Given the description of an element on the screen output the (x, y) to click on. 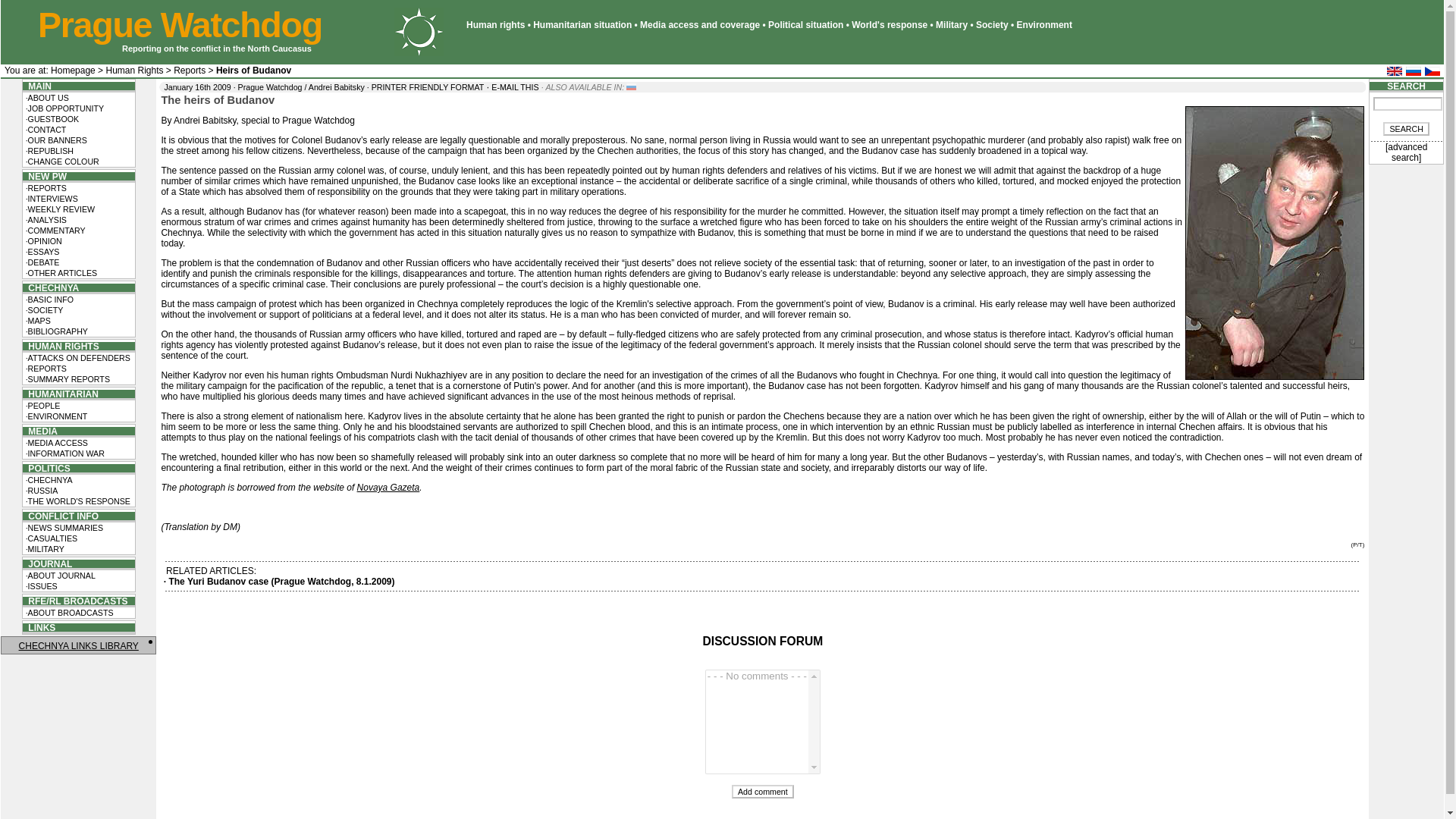
Human Rights (133, 70)
  MEDIA (40, 430)
Homepage (73, 70)
  HUMAN RIGHTS (61, 346)
  MAIN (36, 85)
Reports (189, 70)
  NEW PW (44, 176)
  CHECHNYA (51, 286)
  HUMANITARIAN (61, 393)
SEARCH (1405, 128)
